Given the description of an element on the screen output the (x, y) to click on. 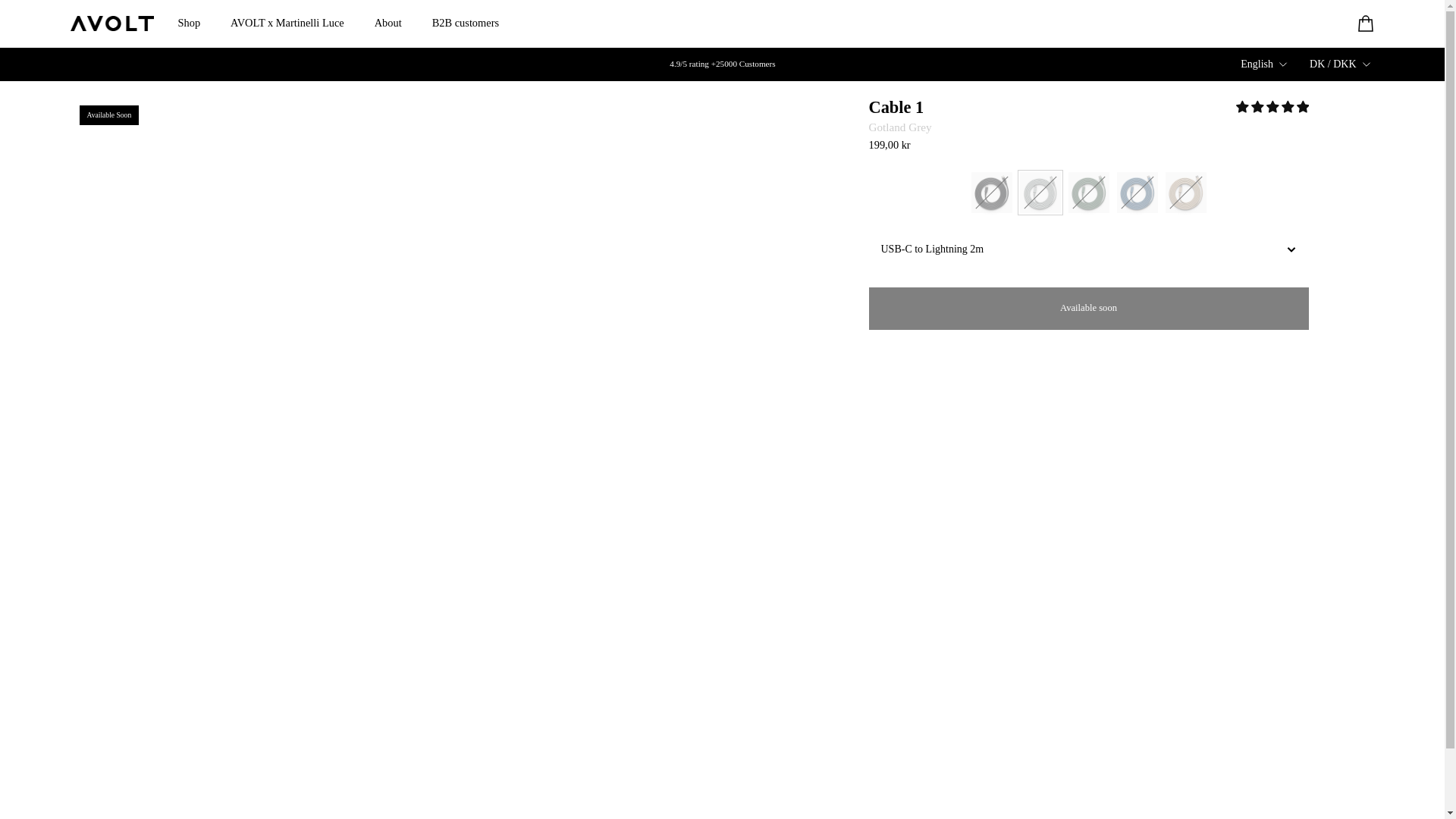
AVOLT x Martinelli Luce (287, 30)
B2B customers (464, 30)
Shop (188, 30)
Available soon (1088, 308)
About (387, 30)
